Given the description of an element on the screen output the (x, y) to click on. 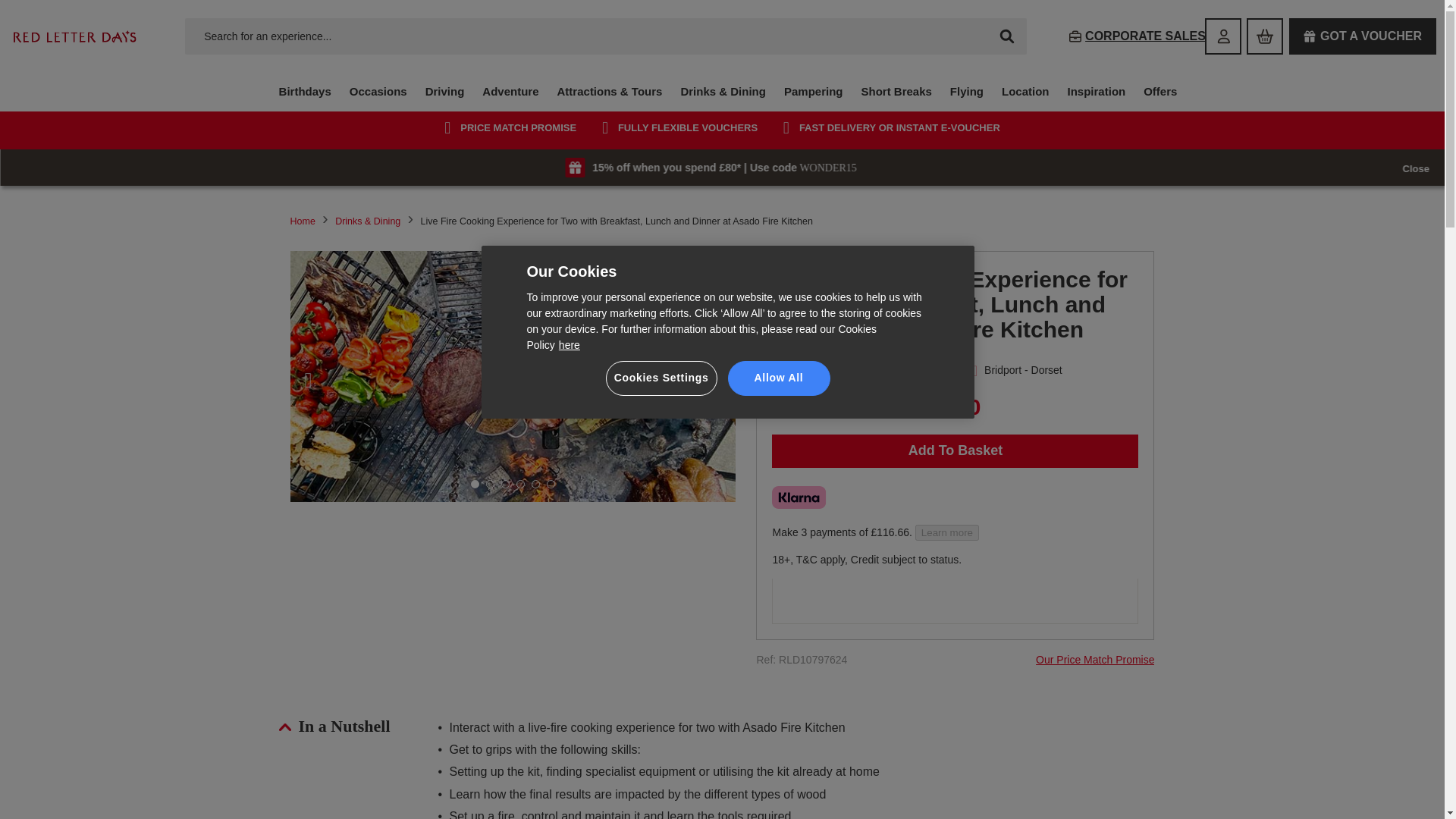
CORPORATE SALES (1136, 36)
GOT A VOUCHER (1362, 36)
PayPal Message 1 (953, 601)
